Given the description of an element on the screen output the (x, y) to click on. 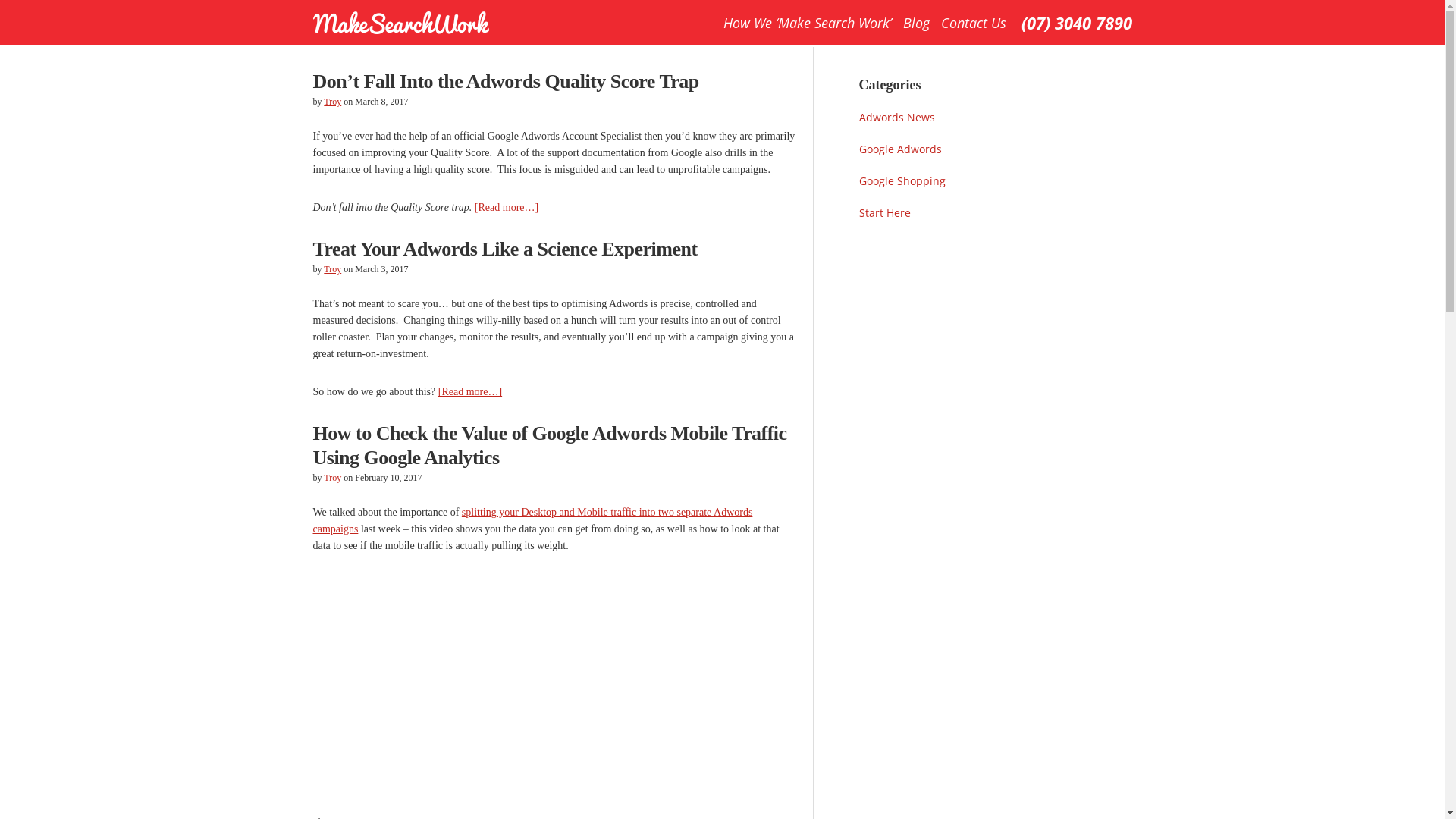
Troy Element type: text (332, 477)
Adwords News Element type: text (896, 116)
Start Here Element type: text (884, 212)
Troy Element type: text (332, 101)
Blog Element type: text (915, 22)
Google Shopping Element type: text (901, 180)
Troy Element type: text (332, 268)
Contact Us Element type: text (972, 22)
Google Adwords Element type: text (899, 148)
Treat Your Adwords Like a Science Experiment Element type: text (504, 249)
